Given the description of an element on the screen output the (x, y) to click on. 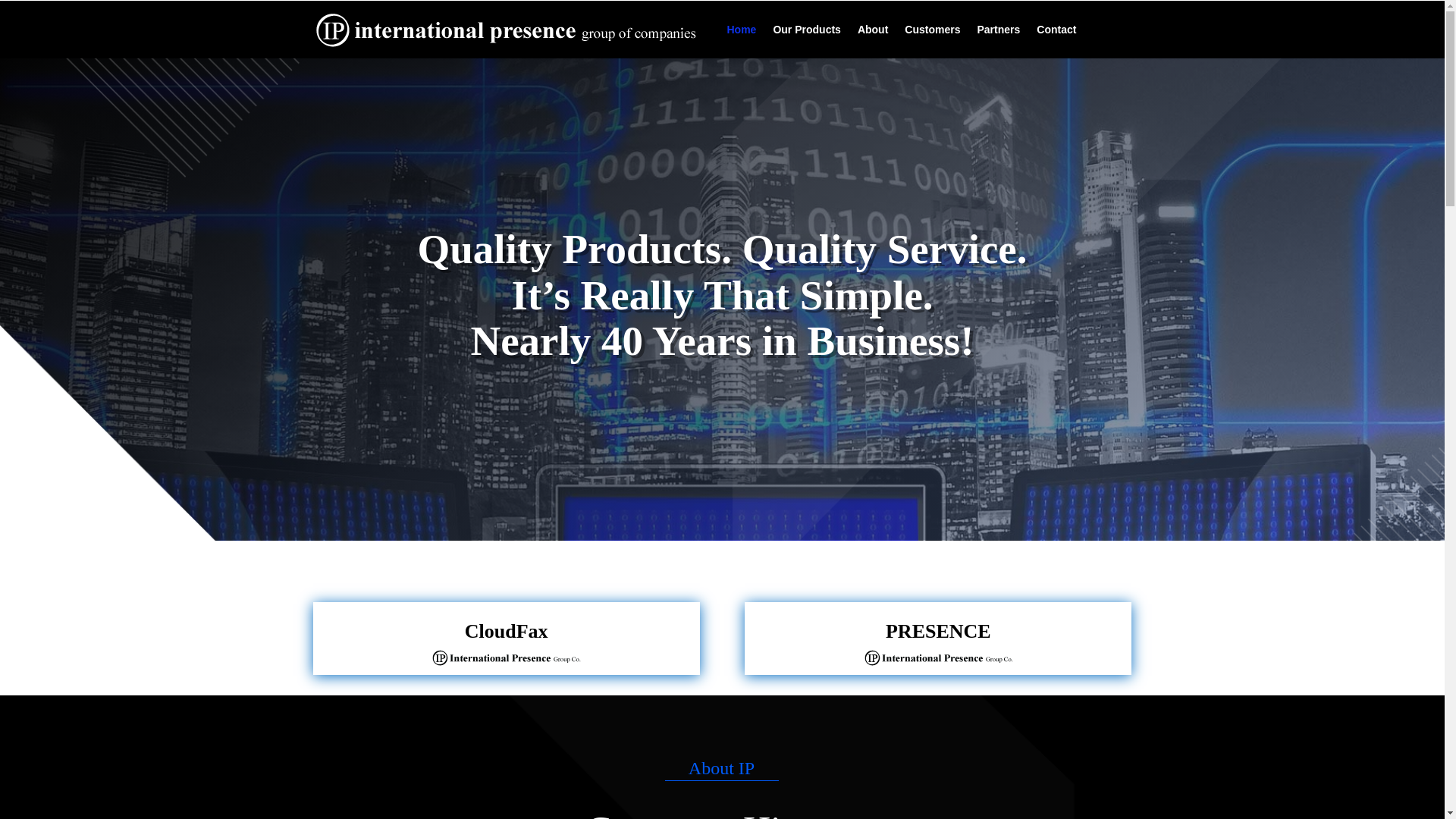
PRESENCE (938, 630)
CloudFax (506, 630)
Our Products (806, 29)
Customers (931, 29)
